Given the description of an element on the screen output the (x, y) to click on. 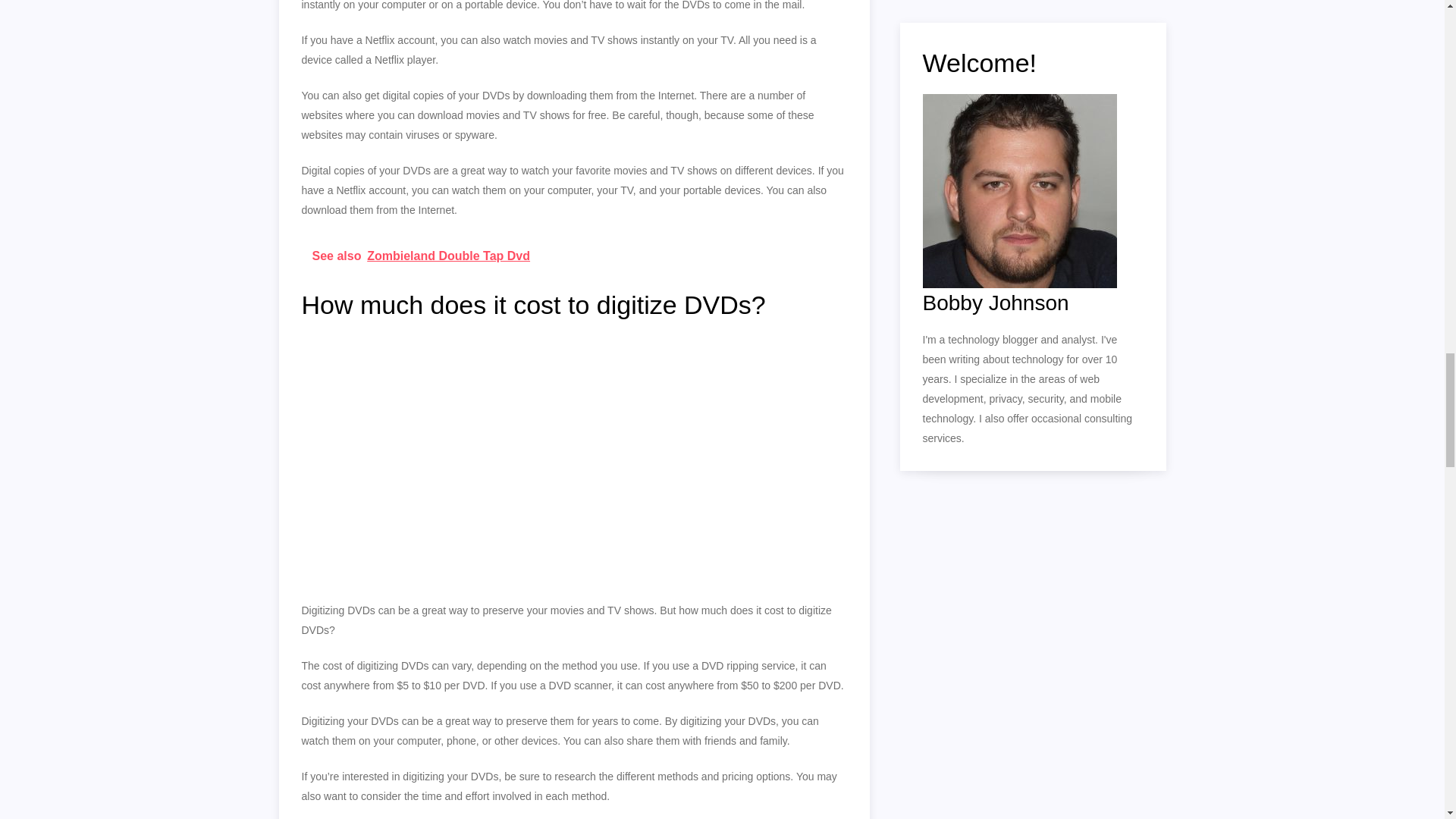
See also  Zombieland Double Tap Dvd (574, 255)
